Given the description of an element on the screen output the (x, y) to click on. 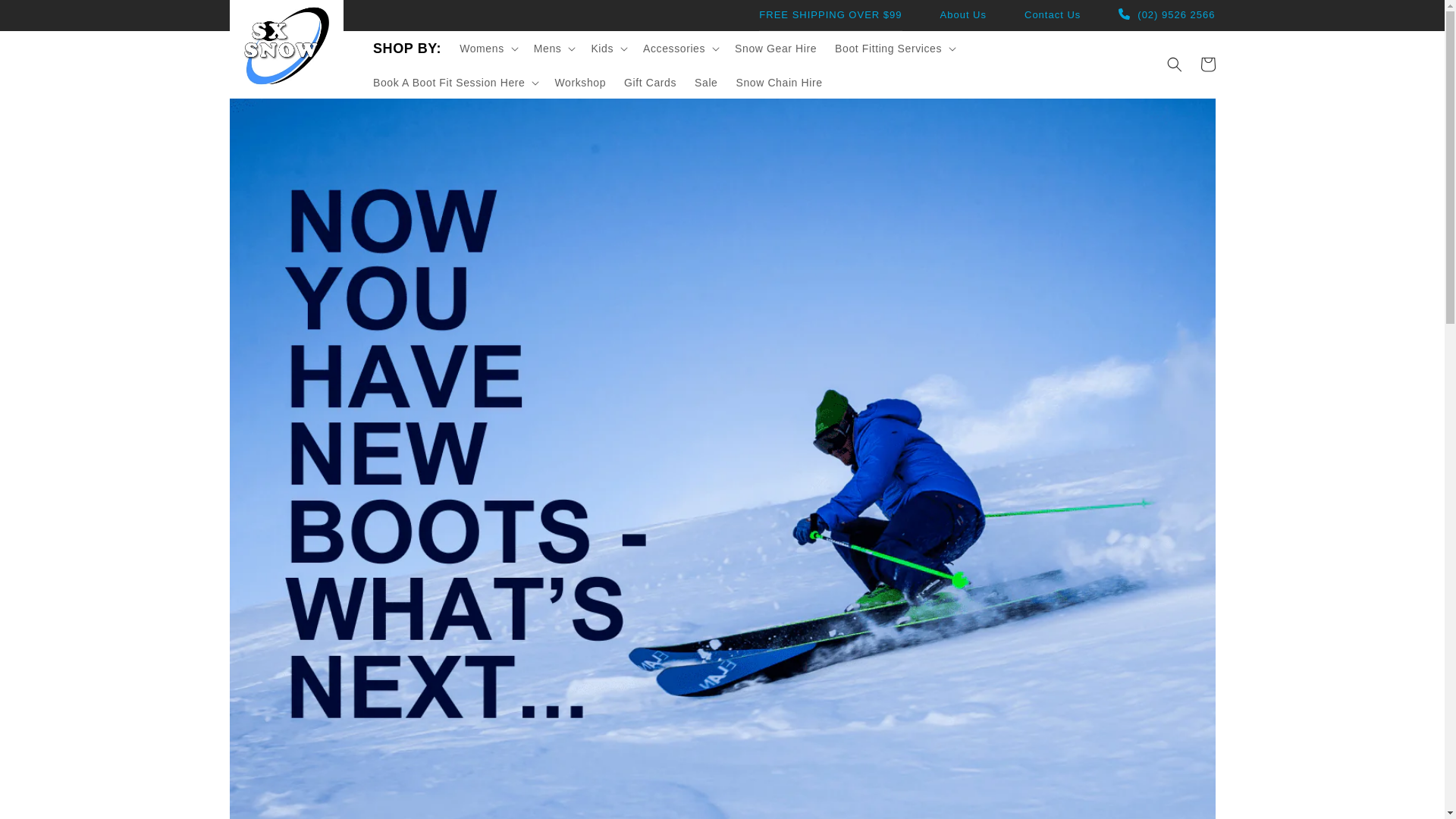
Skip to content (45, 14)
About Us (963, 15)
Contact Us (1052, 15)
SHOP BY: (406, 48)
